Given the description of an element on the screen output the (x, y) to click on. 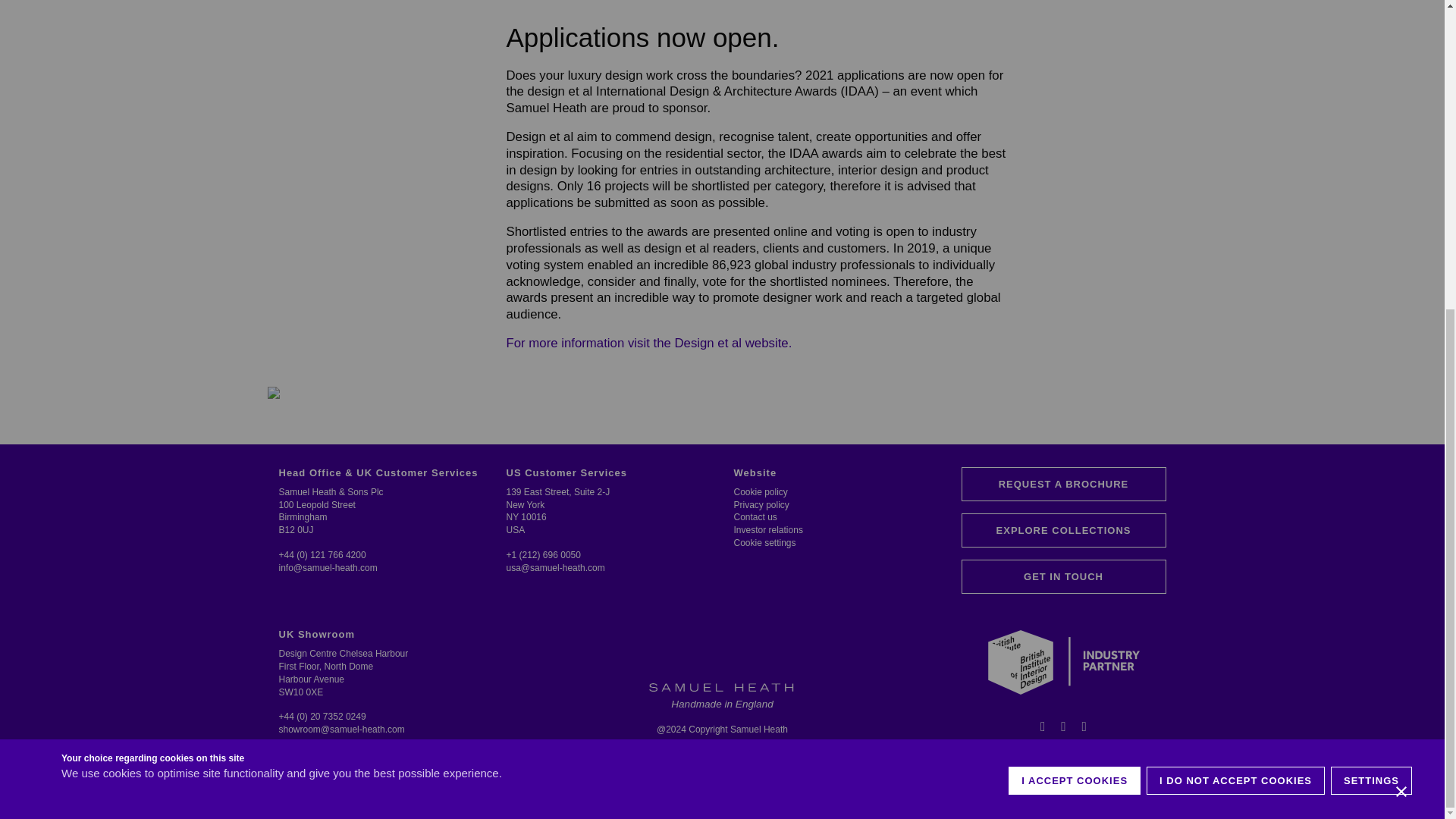
SETTINGS (1371, 290)
I ACCEPT COOKIES (1074, 290)
I DO NOT ACCEPT COOKIES (1235, 290)
